Given the description of an element on the screen output the (x, y) to click on. 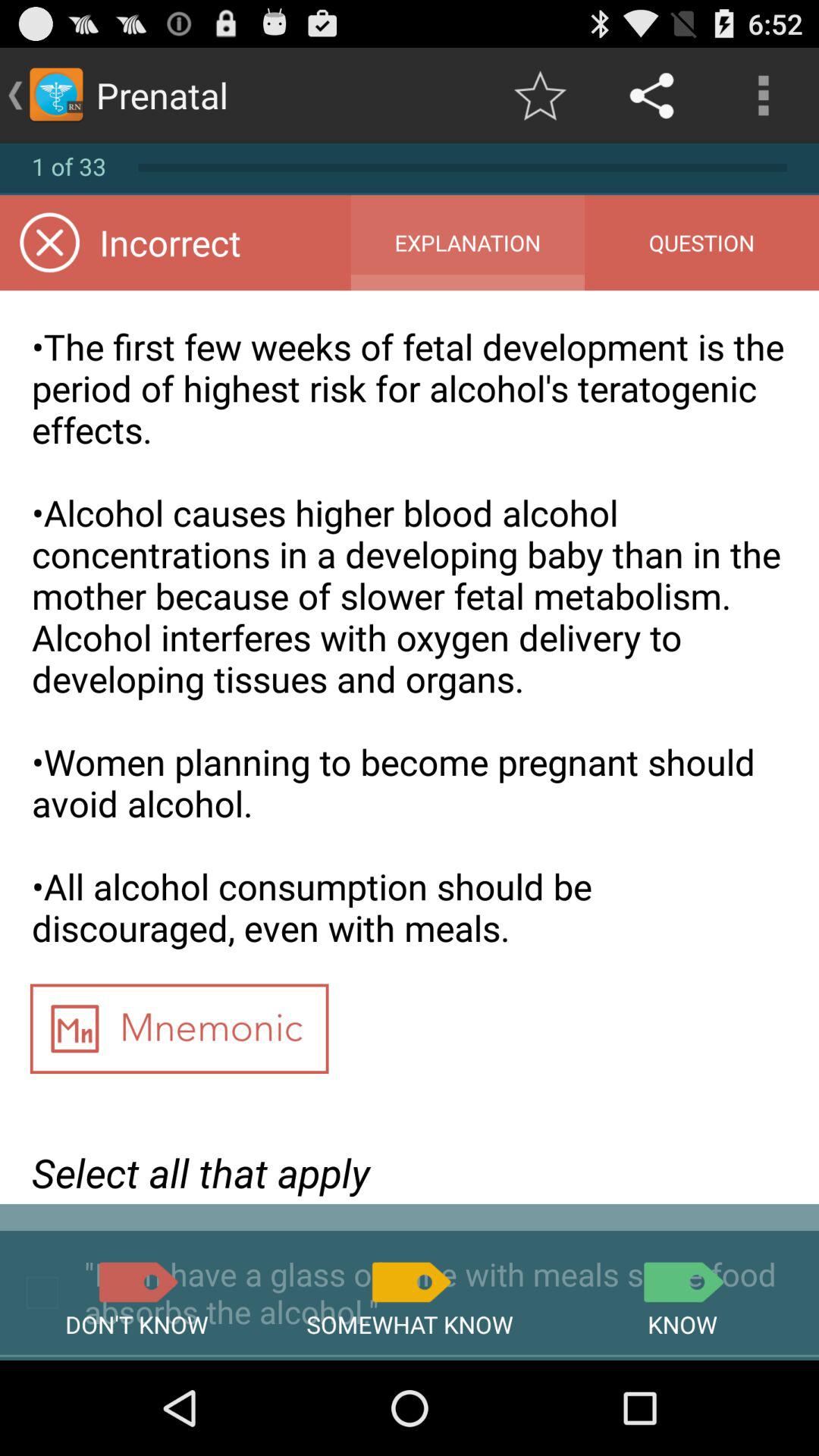
jump to explanation (467, 242)
